Given the description of an element on the screen output the (x, y) to click on. 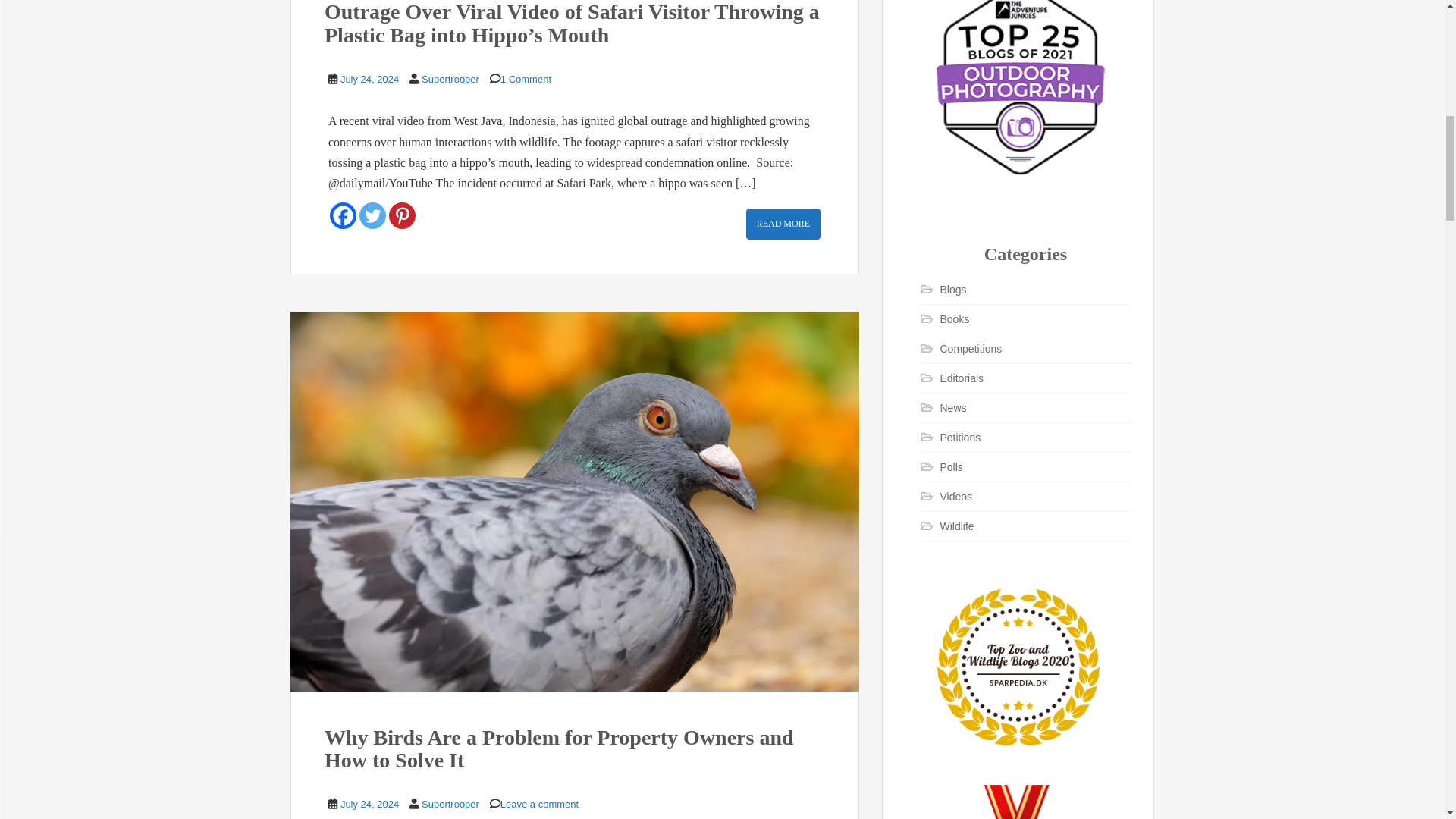
1 Comment (525, 79)
Facebook (343, 215)
Supertrooper (450, 803)
Pinterest (401, 215)
Supertrooper (450, 79)
July 24, 2024 (369, 803)
Leave a comment (539, 803)
July 24, 2024 (369, 79)
Twitter (372, 215)
READ MORE (783, 223)
